Given the description of an element on the screen output the (x, y) to click on. 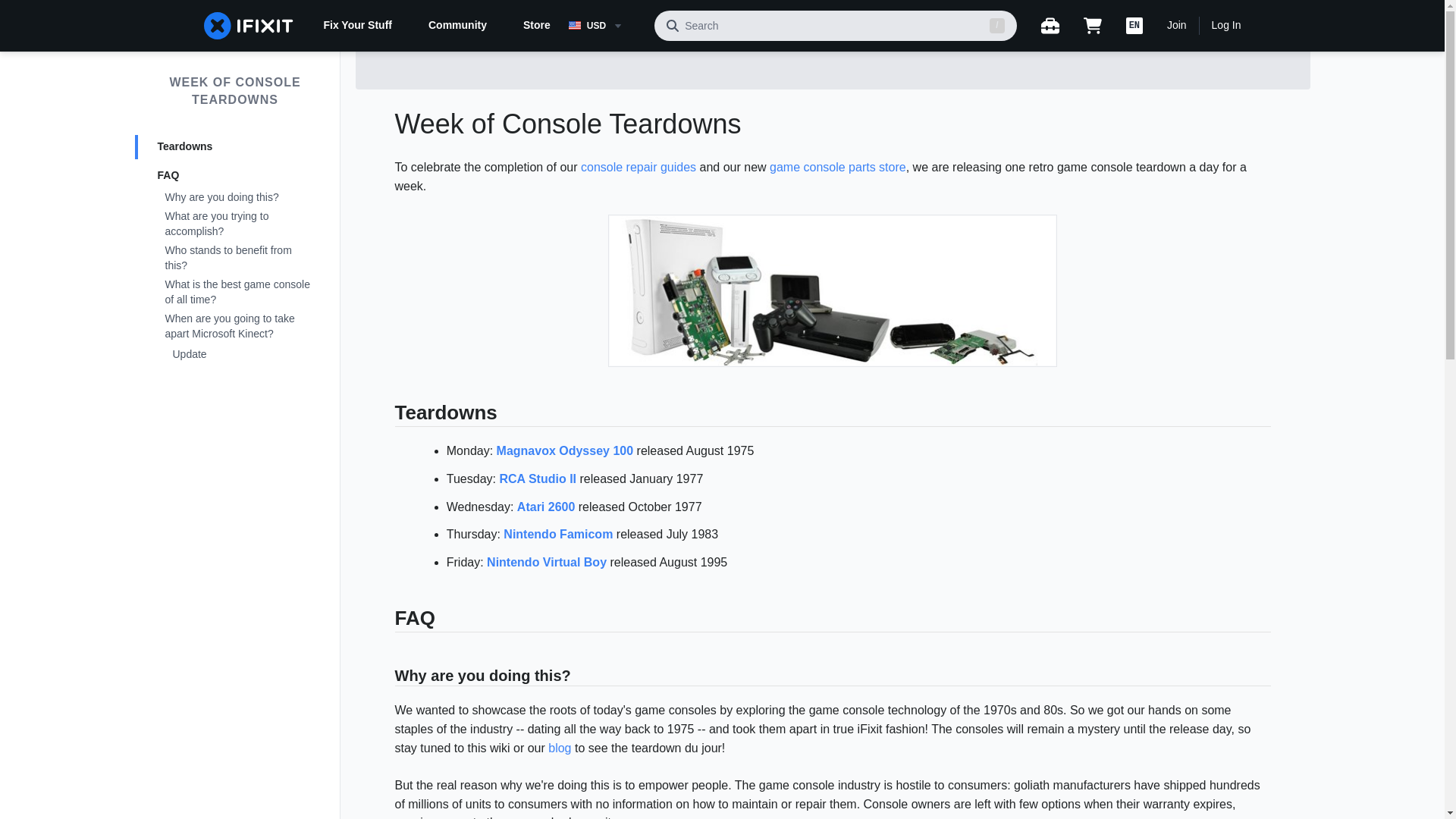
WEEK OF CONSOLE TEARDOWNS (234, 91)
game console parts store (837, 166)
EN (1133, 25)
blog (559, 748)
Nintendo Famicom (557, 533)
Magnavox Odyssey 100 (564, 450)
What are you trying to accomplish? (235, 224)
What is the best game console of all time? (235, 293)
When are you going to take apart Microsoft Kinect? (235, 326)
Join (1176, 25)
FAQ (235, 175)
Link to this section (386, 415)
console repair guides (637, 166)
Nintendo Virtual Boy (546, 562)
Teardowns (235, 146)
